Given the description of an element on the screen output the (x, y) to click on. 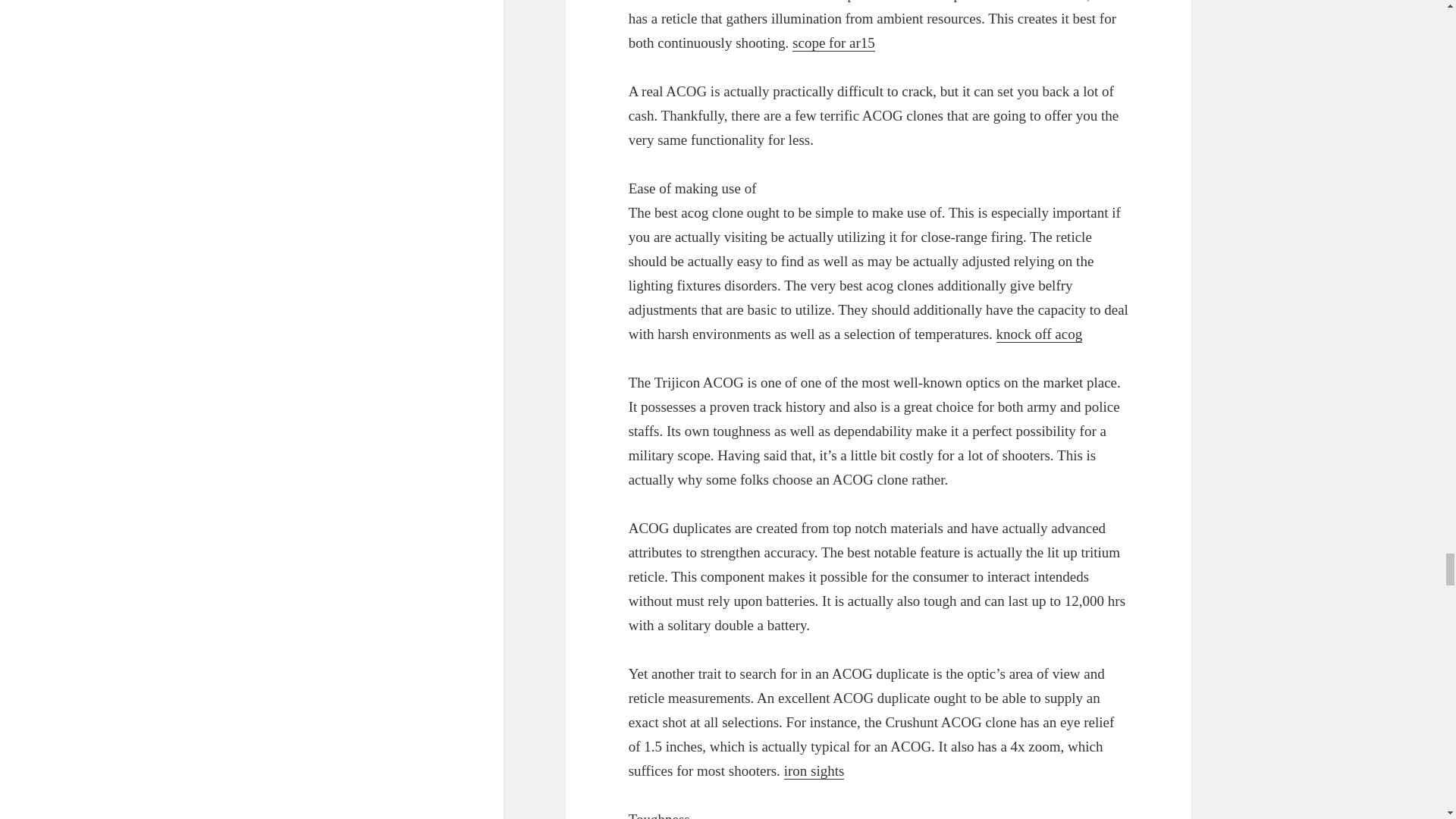
scope for ar15 (833, 43)
knock off acog (1039, 334)
